Given the description of an element on the screen output the (x, y) to click on. 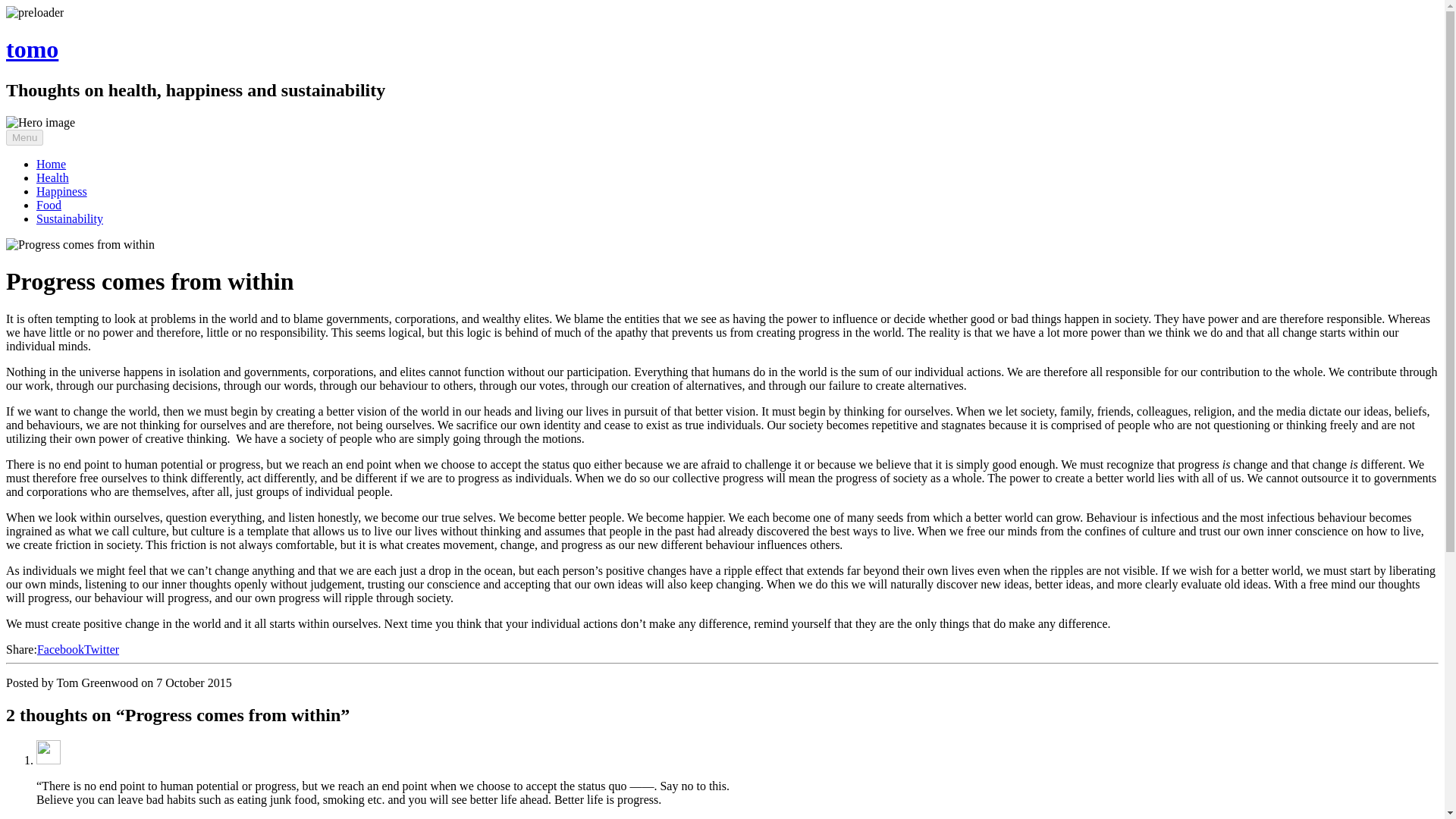
Facebook (60, 649)
Menu (24, 137)
Food (48, 205)
Twitter (101, 649)
Health (52, 177)
Sustainability (69, 218)
Share on Facebook (60, 649)
tomo (31, 49)
Happiness (61, 191)
Home (50, 164)
